Given the description of an element on the screen output the (x, y) to click on. 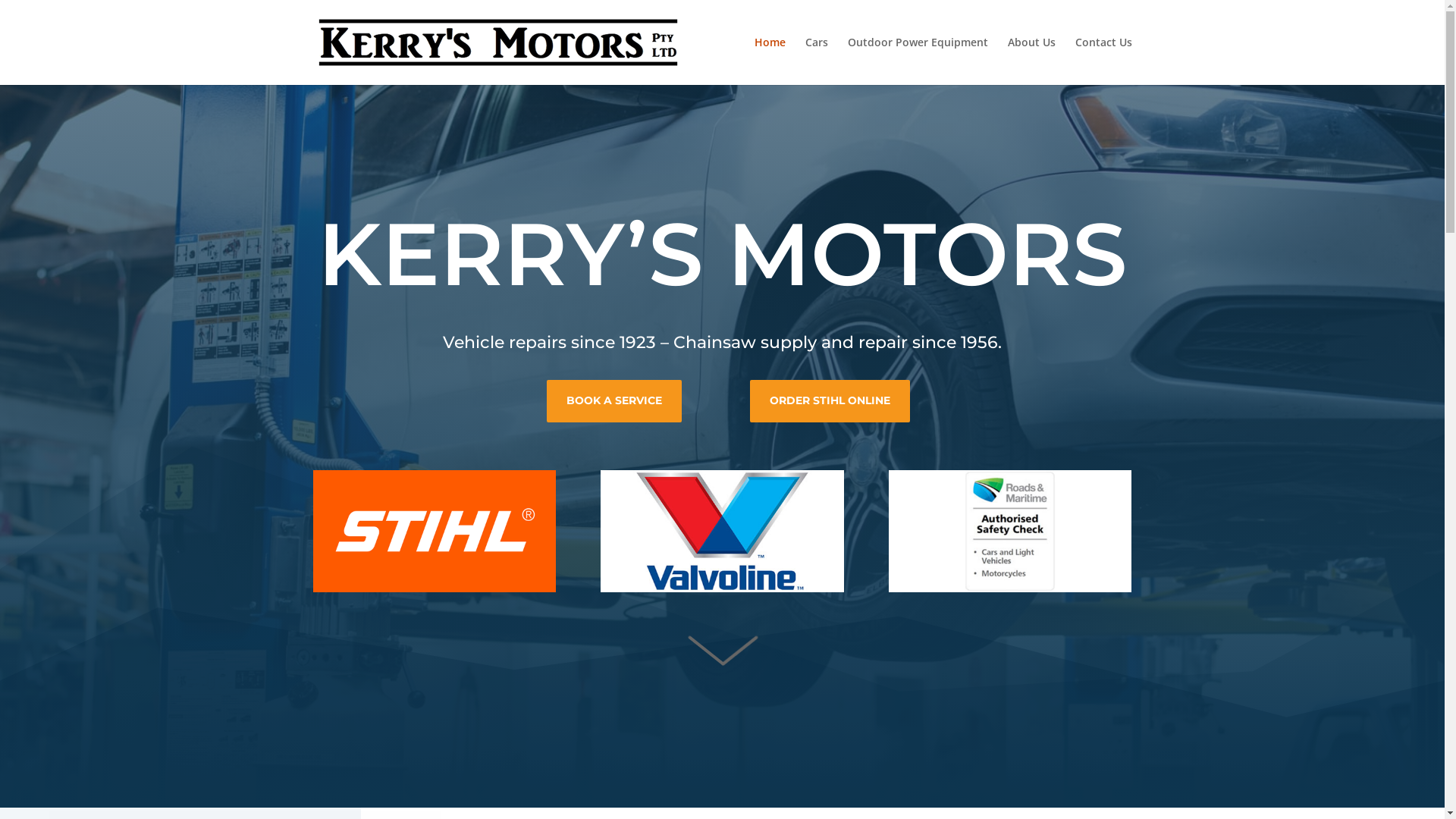
About Us Element type: text (1030, 60)
Home Element type: text (768, 60)
BOOK A SERVICE Element type: text (613, 400)
Contact Us Element type: text (1103, 60)
ORDER STIHL ONLINE Element type: text (829, 400)
Cars Element type: text (816, 60)
Outdoor Power Equipment Element type: text (917, 60)
